Given the description of an element on the screen output the (x, y) to click on. 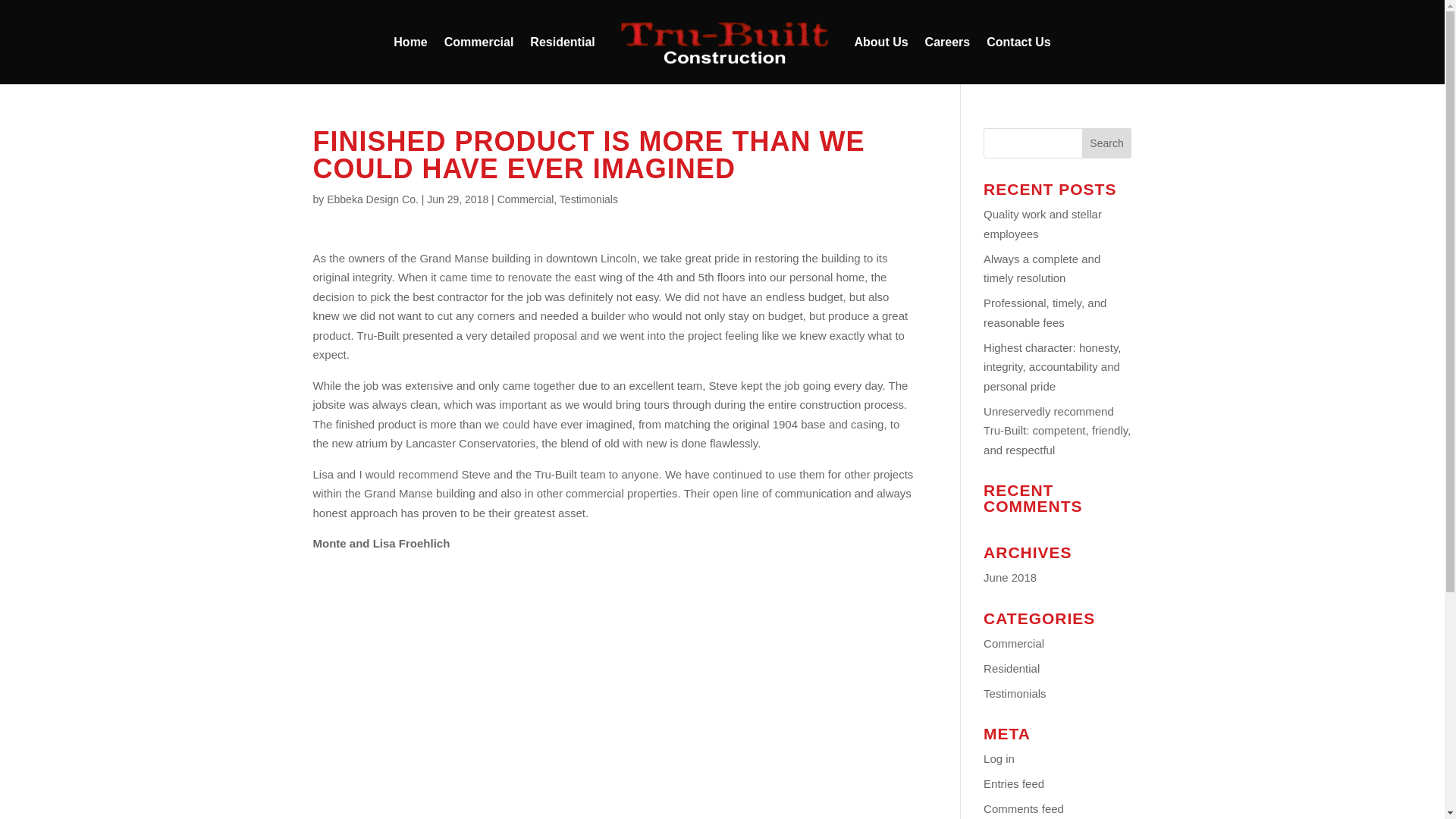
Commercial (478, 60)
Careers (947, 60)
Log in (999, 758)
Always a complete and timely resolution (1042, 267)
Entries feed (1013, 783)
Contact Us (1018, 60)
Comments feed (1024, 808)
Quality work and stellar employees (1043, 224)
Testimonials (1015, 693)
Professional, timely, and reasonable fees (1045, 312)
